Given the description of an element on the screen output the (x, y) to click on. 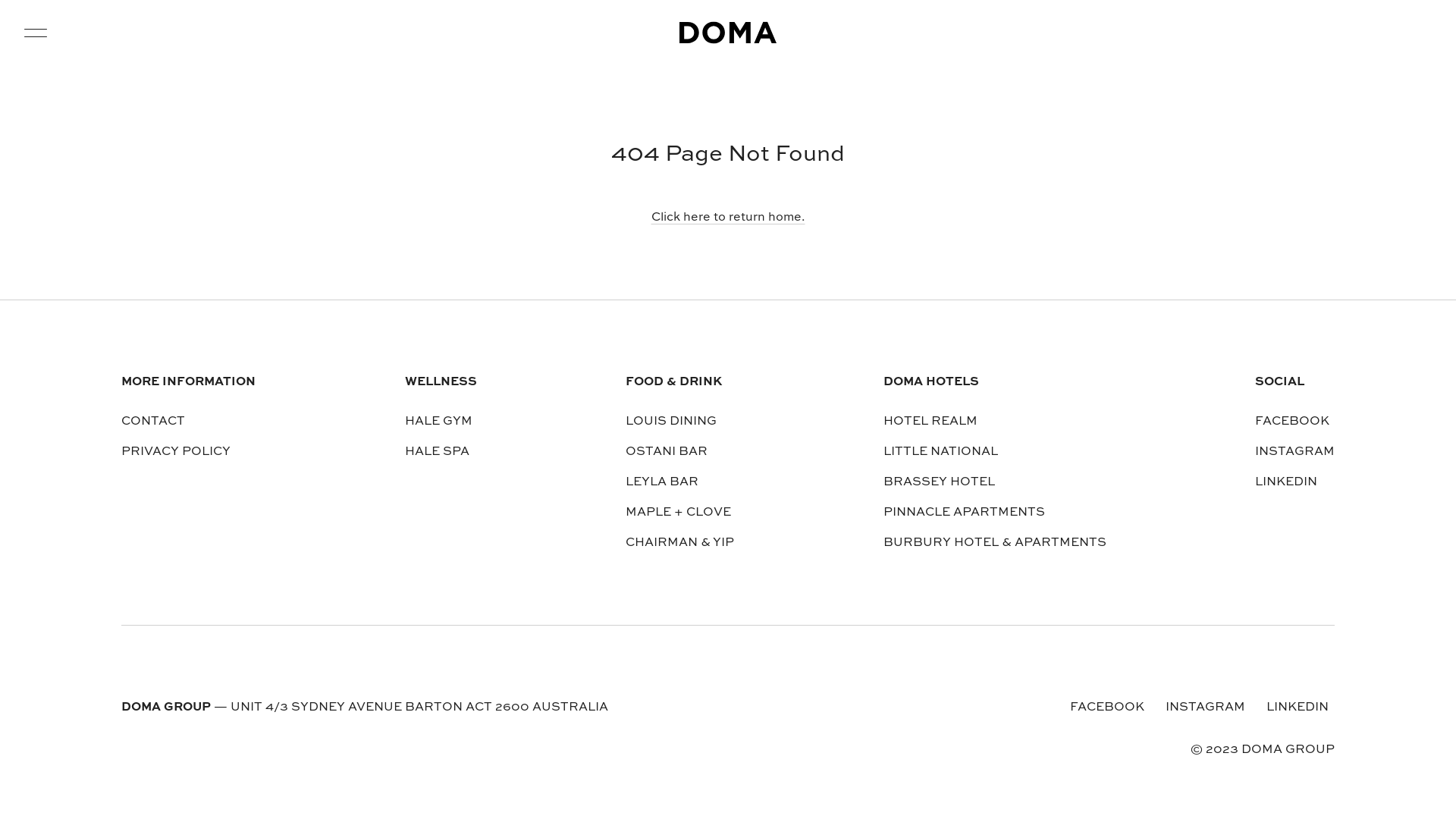
OSTANI BAR Element type: text (666, 451)
INSTAGRAM Element type: text (1294, 451)
FACEBOOK Element type: text (1107, 707)
BURBURY HOTEL & APARTMENTS Element type: text (993, 542)
INSTAGRAM Element type: text (1205, 707)
CHAIRMAN & YIP Element type: text (679, 542)
LITTLE NATIONAL Element type: text (939, 451)
MAPLE + CLOVE Element type: text (678, 512)
CONTACT Element type: text (153, 421)
DOMA Group Element type: text (727, 32)
DOMA HOTELS Element type: text (993, 386)
LINKEDIN Element type: text (1297, 707)
BRASSEY HOTEL Element type: text (938, 482)
HALE SPA Element type: text (436, 451)
PRIVACY POLICY Element type: text (175, 451)
Click here to return home. Element type: text (727, 217)
PINNACLE APARTMENTS Element type: text (963, 512)
HALE GYM Element type: text (438, 421)
HOTEL REALM Element type: text (929, 421)
LOUIS DINING Element type: text (670, 421)
LINKEDIN Element type: text (1286, 482)
LEYLA BAR Element type: text (661, 482)
FACEBOOK Element type: text (1292, 421)
